Given the description of an element on the screen output the (x, y) to click on. 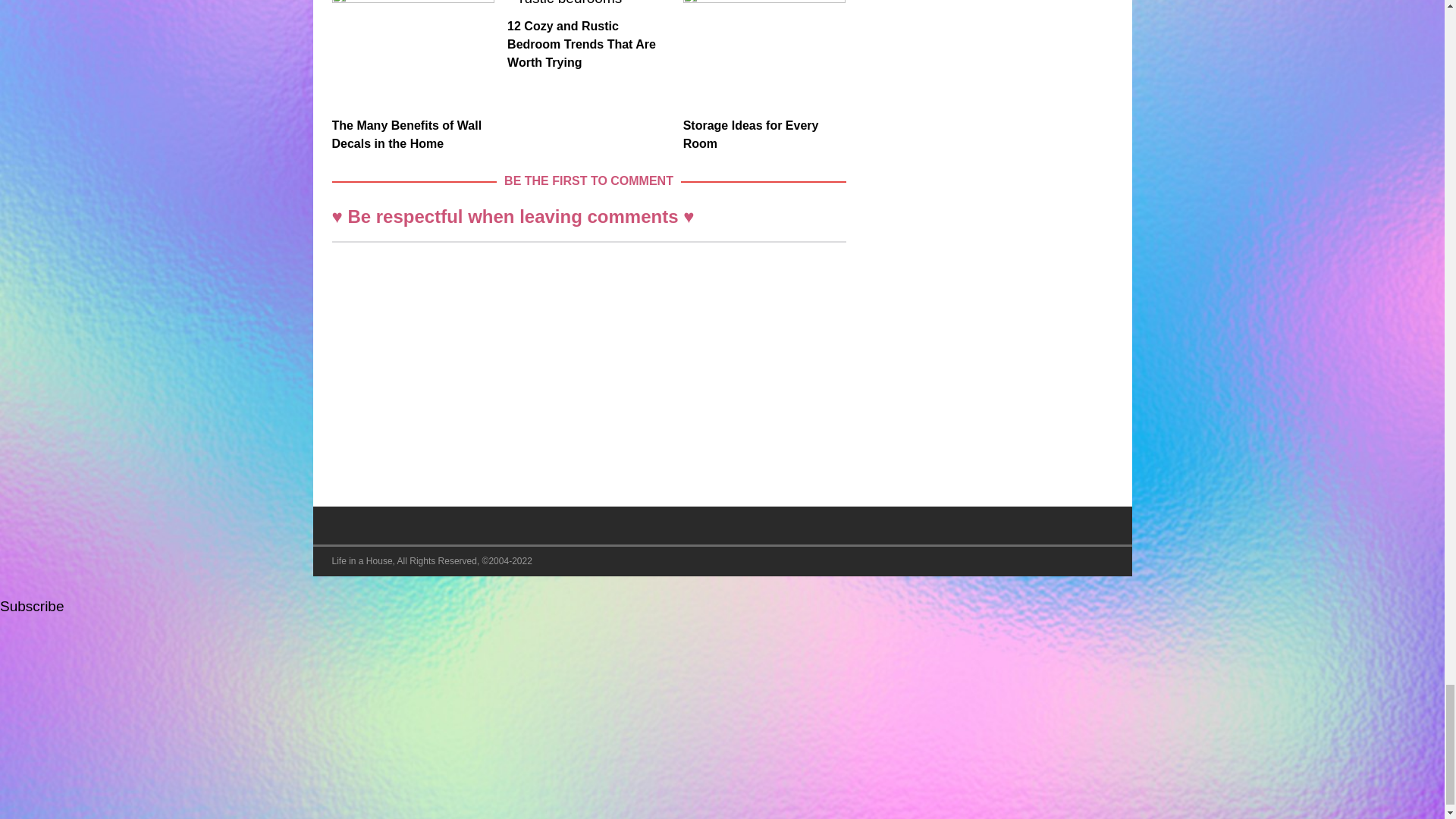
12 Cozy and Rustic Bedroom Trends That Are Worth Trying (581, 43)
12 Cozy and Rustic Bedroom Trends That Are Worth Trying (587, 4)
The Many Benefits of Wall Decals in the Home (413, 54)
The Many Benefits of Wall Decals in the Home (406, 133)
Storage Ideas for Every Room (763, 54)
Storage Ideas for Every Room (750, 133)
